Given the description of an element on the screen output the (x, y) to click on. 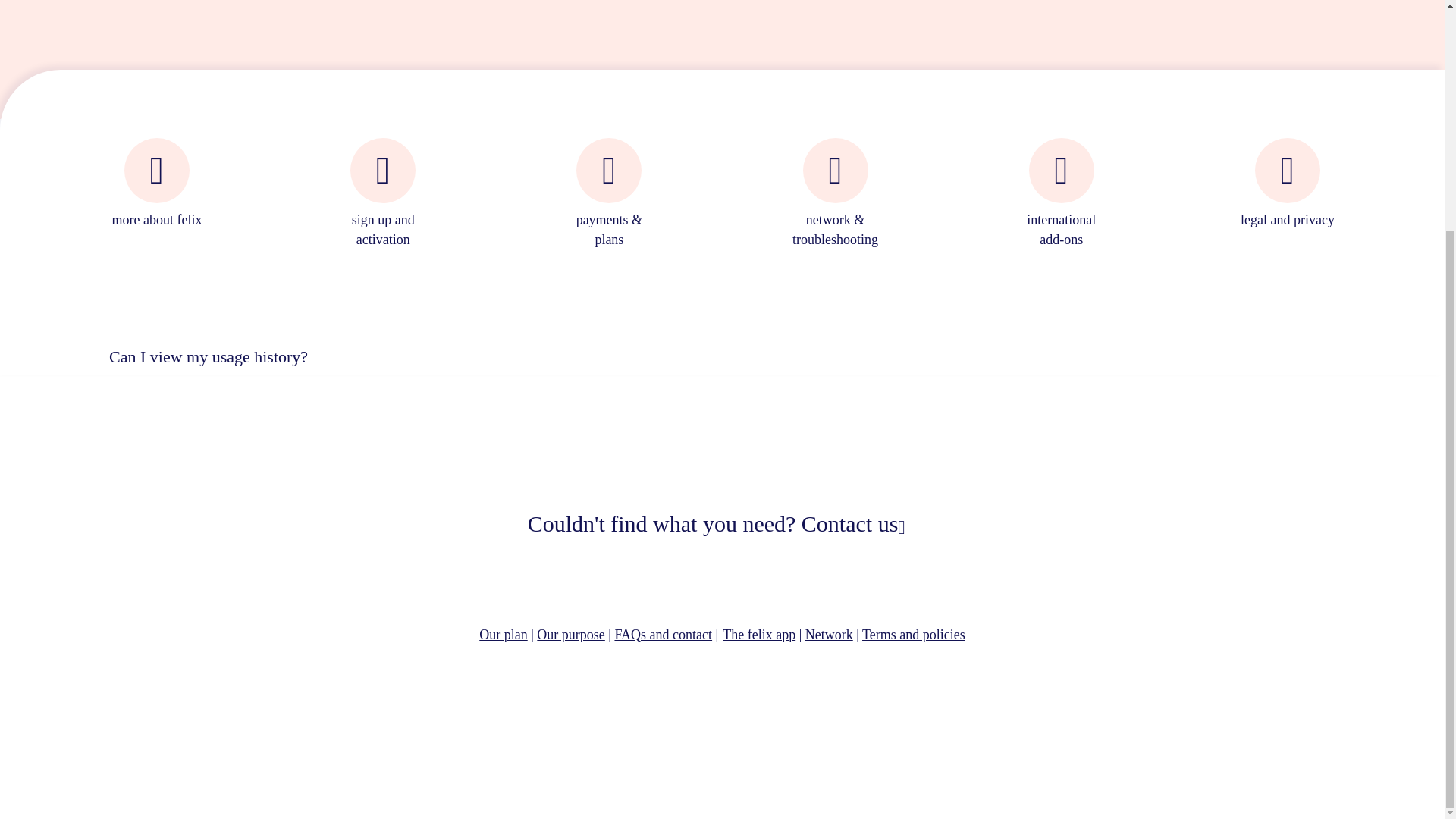
Our purpose (570, 634)
Our plan (503, 634)
Couldn't find what you need? Contact us (722, 523)
Chat (113, 757)
Terms and policies (913, 634)
Network (829, 634)
FAQs and contact (662, 634)
The felix app (758, 634)
